Given the description of an element on the screen output the (x, y) to click on. 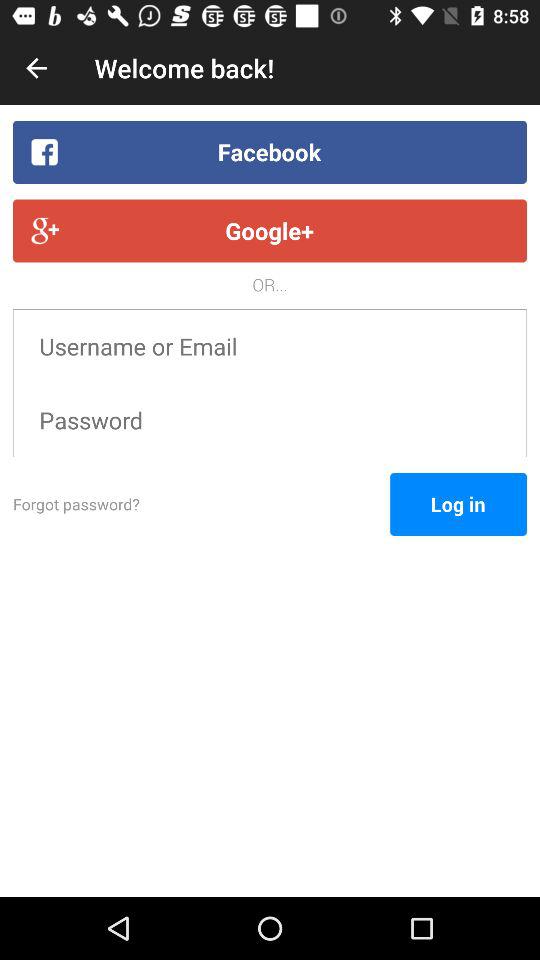
choose the icon below the facebook item (269, 230)
